Given the description of an element on the screen output the (x, y) to click on. 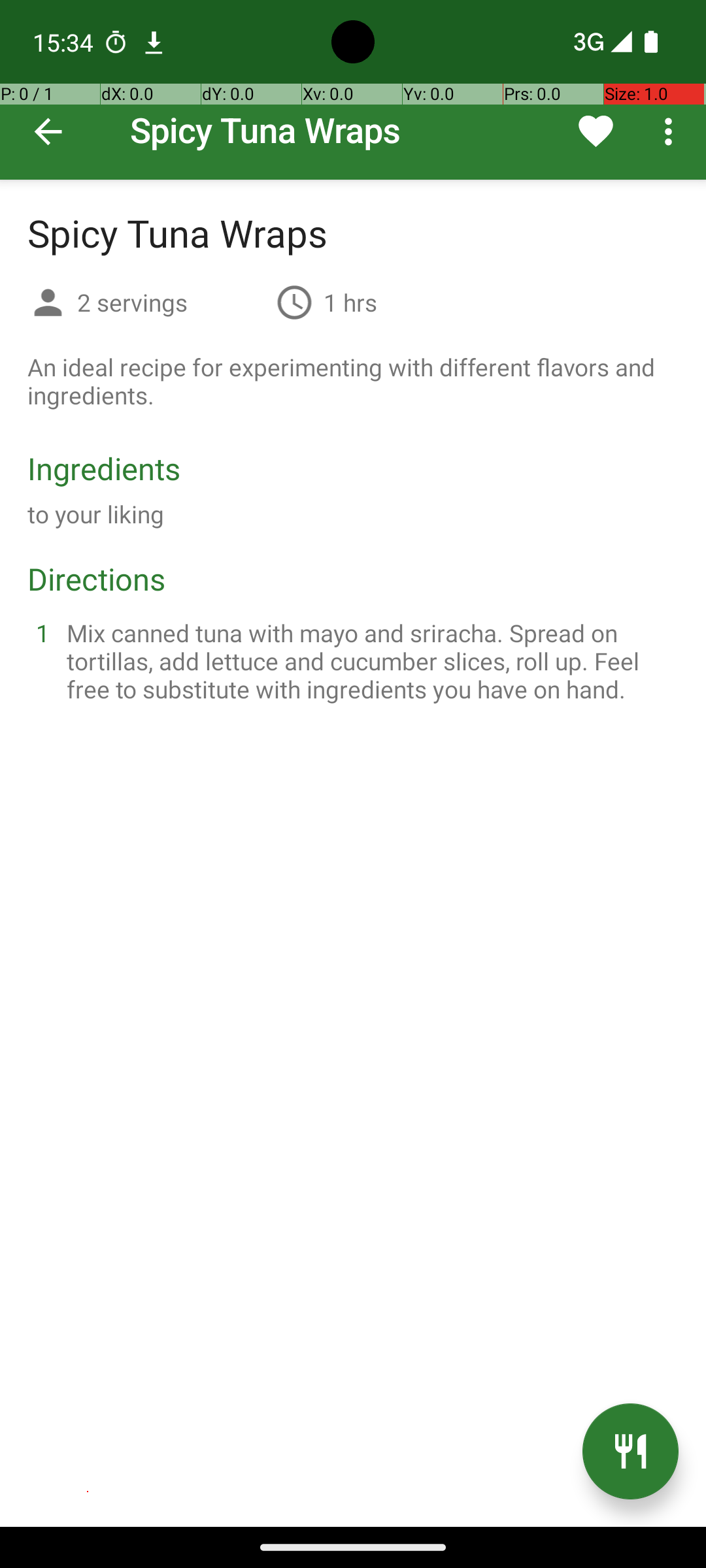
Spicy Tuna Wraps Element type: android.widget.FrameLayout (353, 89)
Mix canned tuna with mayo and sriracha. Spread on tortillas, add lettuce and cucumber slices, roll up. Feel free to substitute with ingredients you have on hand. Element type: android.widget.TextView (368, 660)
